Given the description of an element on the screen output the (x, y) to click on. 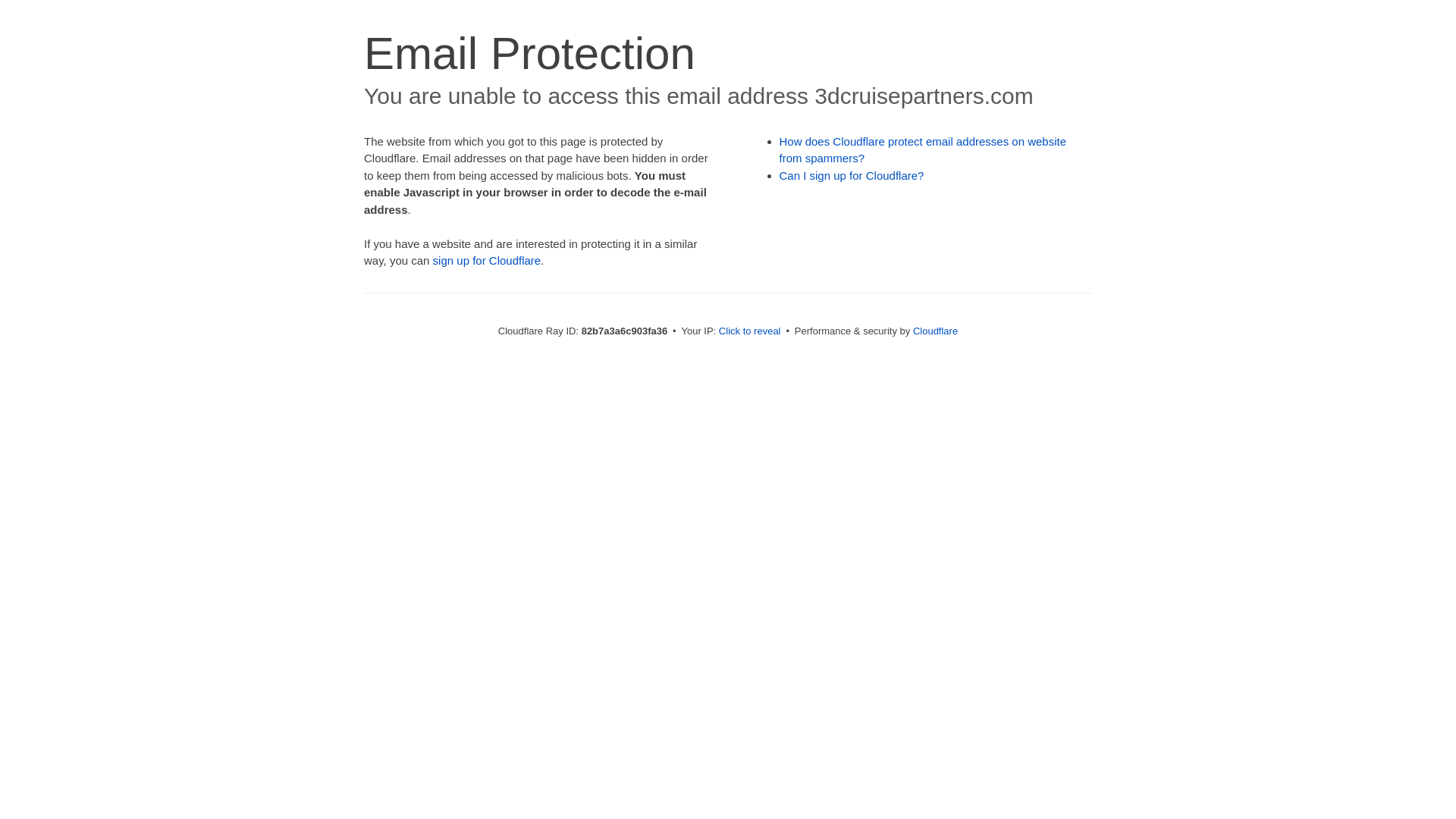
Click to reveal Element type: text (749, 330)
Can I sign up for Cloudflare? Element type: text (851, 175)
Cloudflare Element type: text (935, 330)
sign up for Cloudflare Element type: text (487, 260)
